Given the description of an element on the screen output the (x, y) to click on. 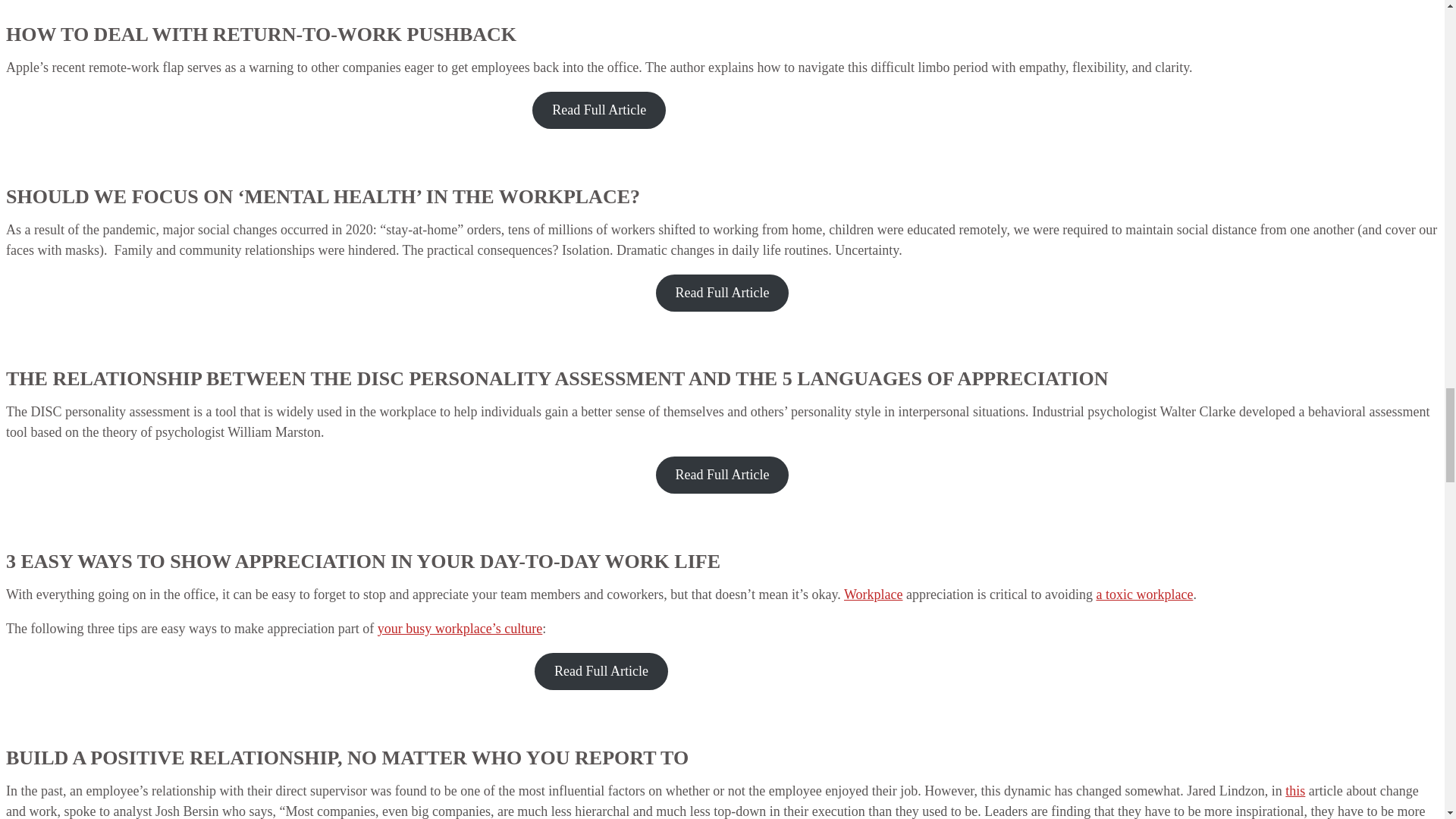
Read Full Article (722, 293)
Read Full Article (598, 109)
